Given the description of an element on the screen output the (x, y) to click on. 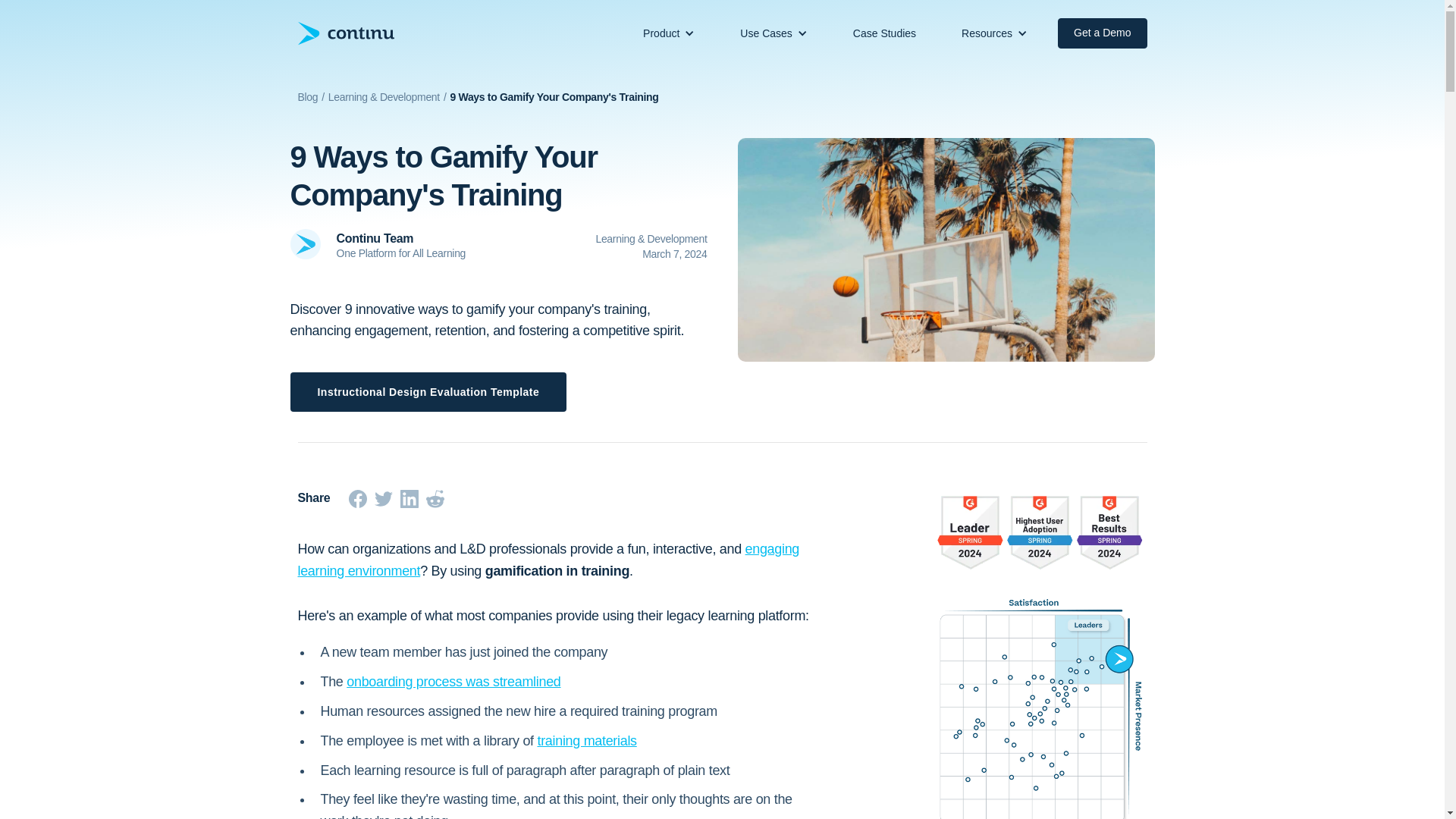
Get a Demo (1102, 33)
Instructional Design Evaluation Template (427, 391)
Blog (307, 97)
Case Studies (884, 33)
Use Cases (765, 33)
engaging learning environment (548, 559)
training materials (586, 740)
Continu Team (452, 238)
onboarding process was streamlined (453, 681)
Resources (985, 33)
